Given the description of an element on the screen output the (x, y) to click on. 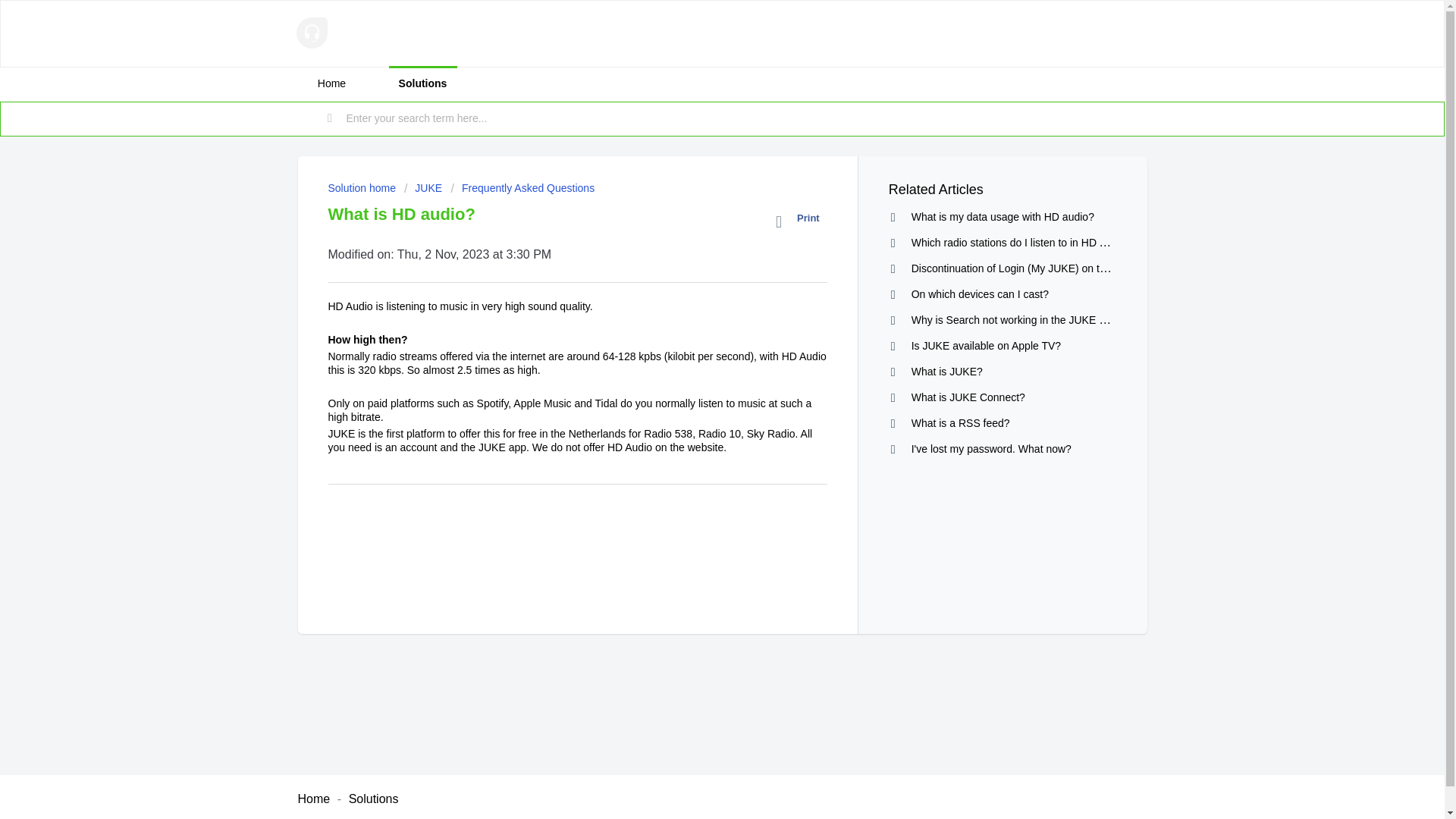
Solutions (373, 798)
Frequently Asked Questions (523, 187)
What is a RSS feed? (960, 422)
What is JUKE Connect? (968, 397)
On which devices can I cast? (979, 294)
What is my data usage with HD audio? (1002, 216)
Home (331, 83)
Solutions (422, 83)
Which radio stations do I listen to in HD Audio? (1021, 241)
What is JUKE? (946, 371)
I've lost my password. What now? (991, 449)
Print this Article (801, 221)
Is JUKE available on Apple TV? (986, 345)
Why is Search not working in the JUKE app? (1016, 318)
Home (313, 798)
